Given the description of an element on the screen output the (x, y) to click on. 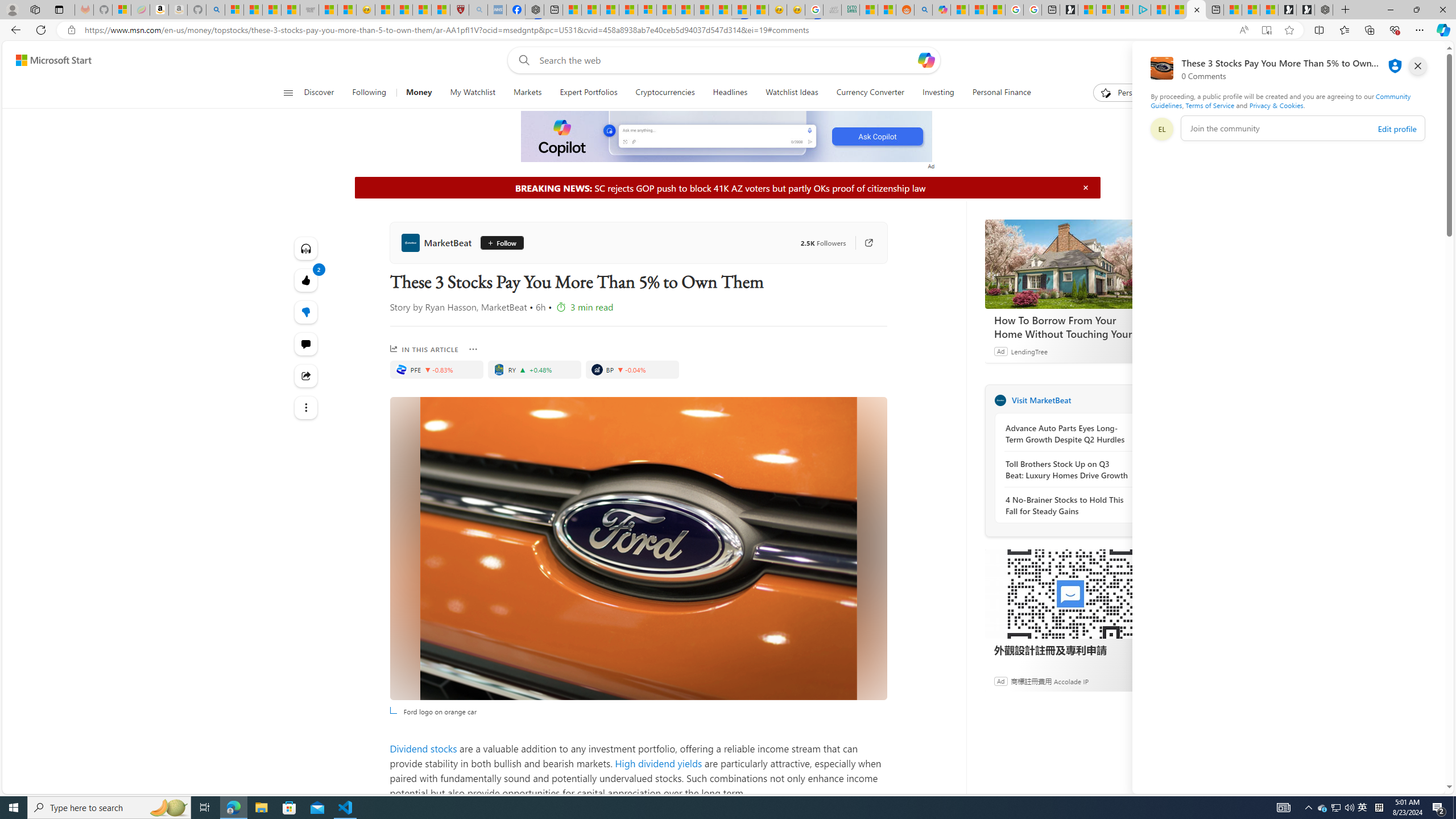
MarketBeat (438, 242)
MarketBeat (1000, 399)
Microsoft Copilot in Bing (941, 9)
Headlines (730, 92)
